Given the description of an element on the screen output the (x, y) to click on. 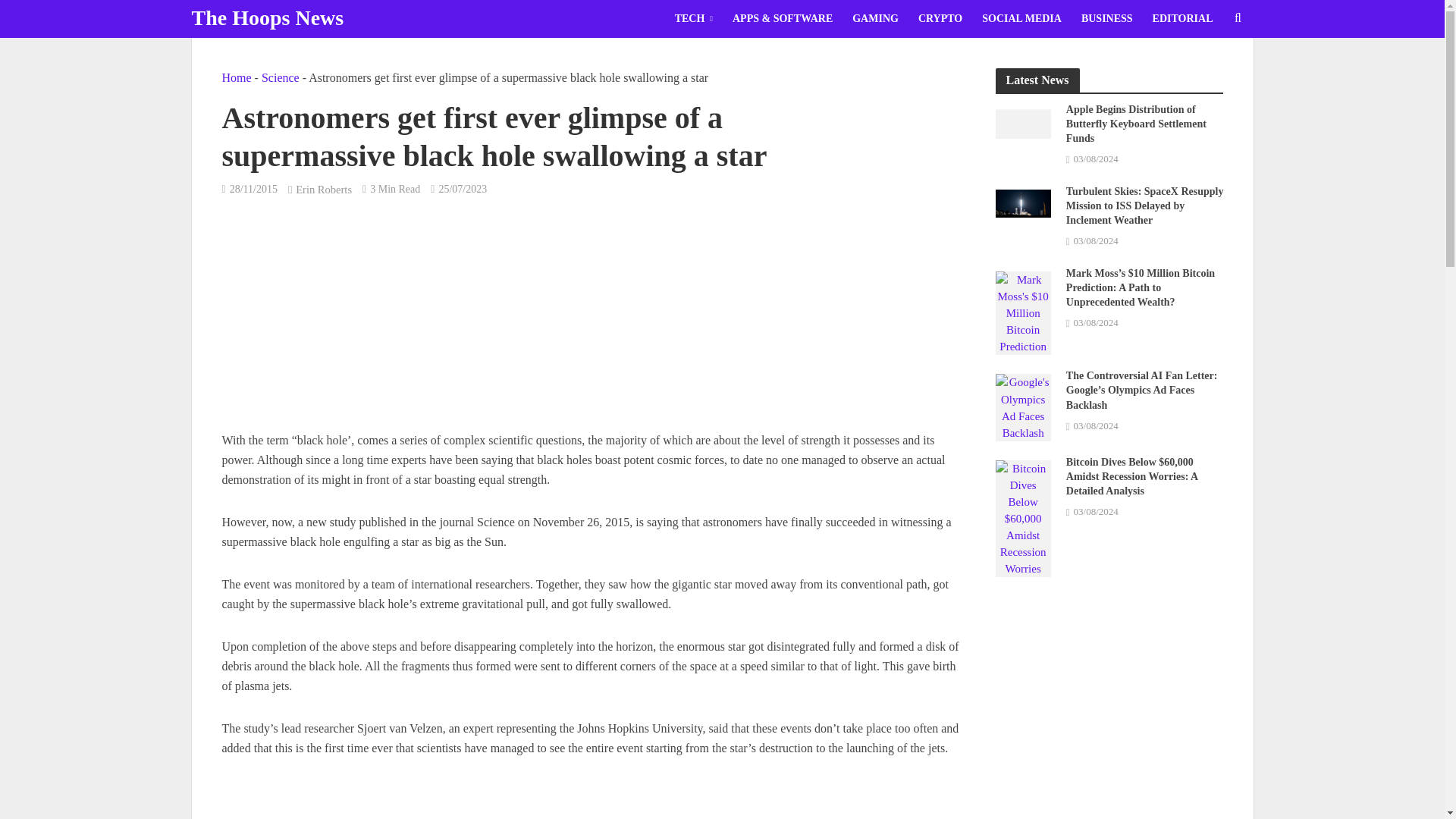
GAMING (875, 18)
Science (280, 77)
CRYPTO (940, 18)
Erin Roberts (323, 191)
TECH (693, 18)
Home (235, 77)
EDITORIAL (1182, 18)
The Hoops News (266, 17)
BUSINESS (1106, 18)
SOCIAL MEDIA (1021, 18)
